Given the description of an element on the screen output the (x, y) to click on. 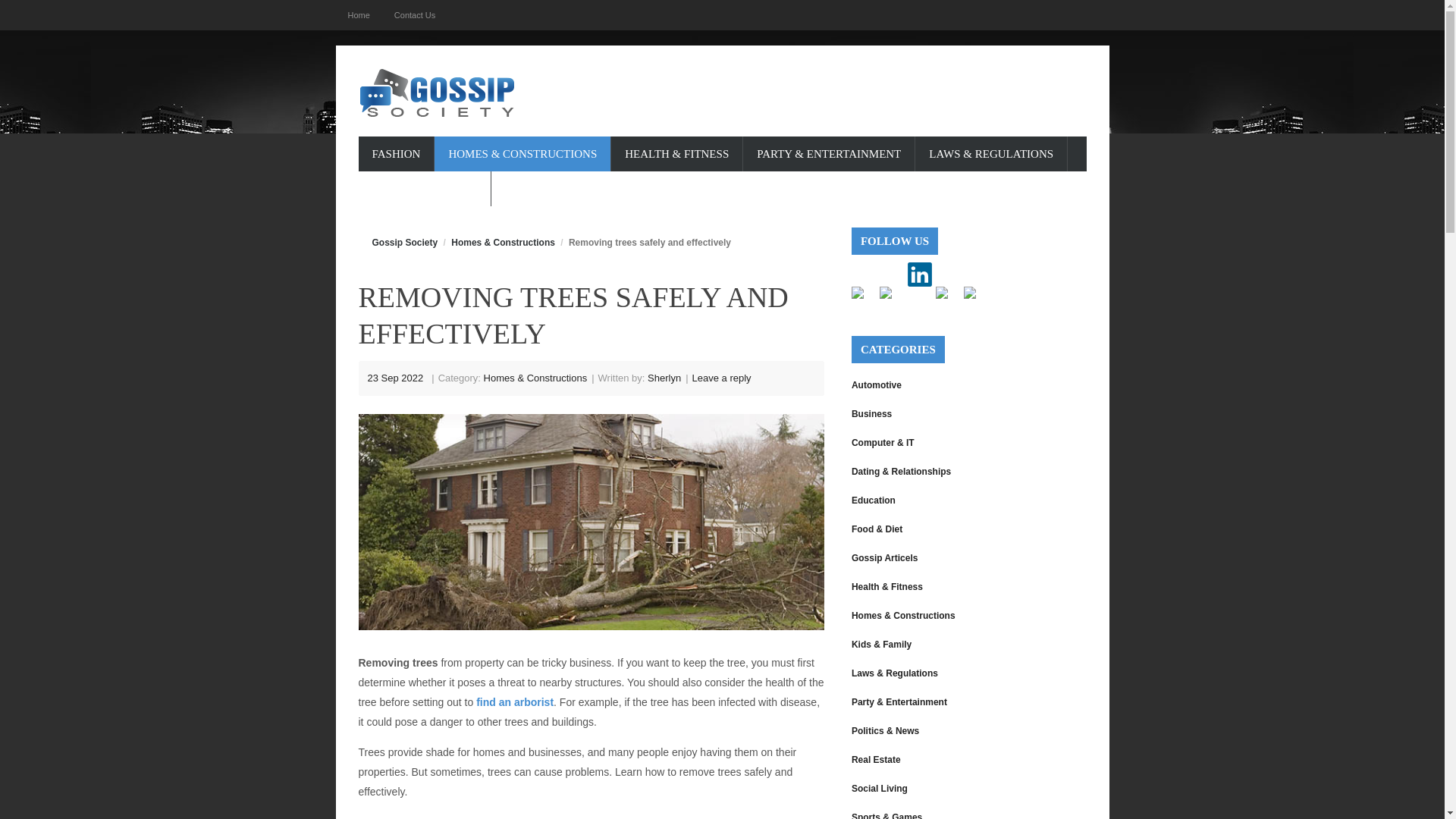
FASHION (395, 153)
23 Sep 2022 (394, 378)
View all posts by Sherlyn (664, 378)
Sherlyn (664, 378)
Follow us on Twitter (885, 292)
Follow us on Facebook (857, 292)
Gossip Society (404, 242)
MORE CATEGORIES (424, 188)
Find us on Linkedin (919, 274)
Follow us on Facebook (863, 298)
